Given the description of an element on the screen output the (x, y) to click on. 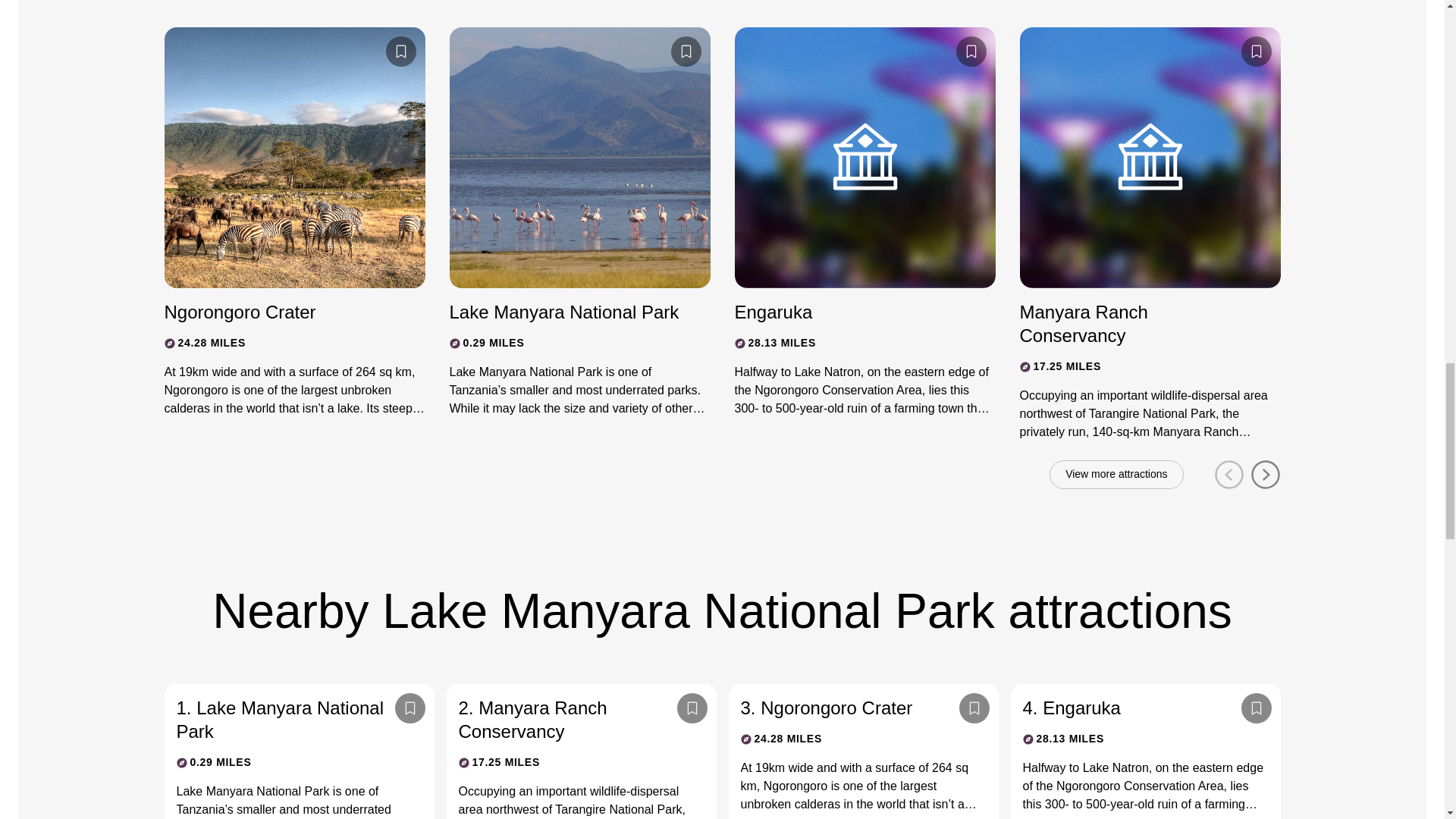
Manyara Ranch Conservancy (1136, 323)
Ngorongoro Crater (280, 311)
View more attractions (1115, 474)
Login (970, 51)
Lake Manyara National Park (566, 311)
Engaruka (851, 311)
Login (1255, 51)
Login (409, 707)
Login (684, 51)
Login (399, 51)
